Given the description of an element on the screen output the (x, y) to click on. 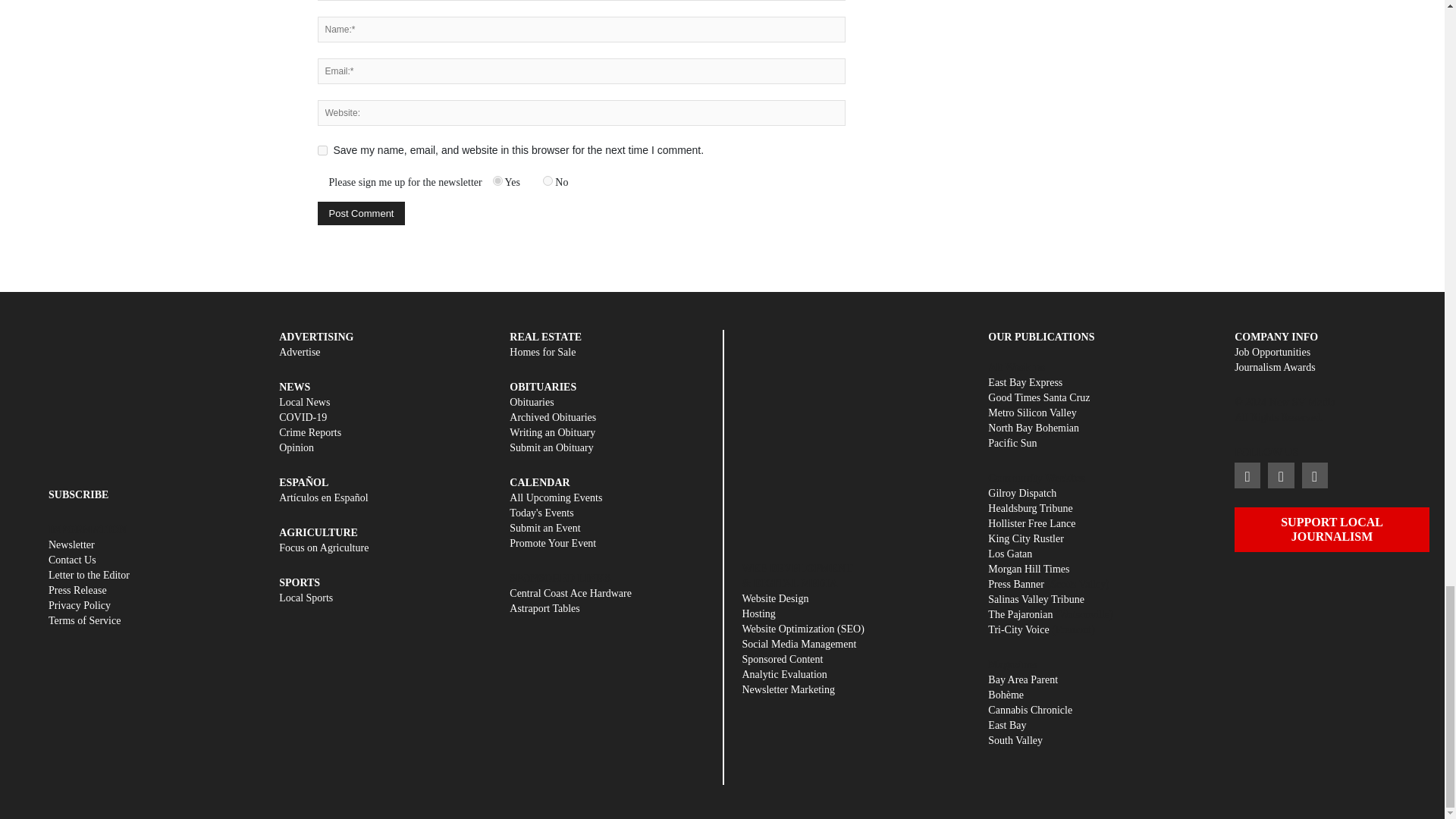
yes (321, 150)
No (548, 180)
Yes (497, 180)
Post Comment (360, 213)
